Given the description of an element on the screen output the (x, y) to click on. 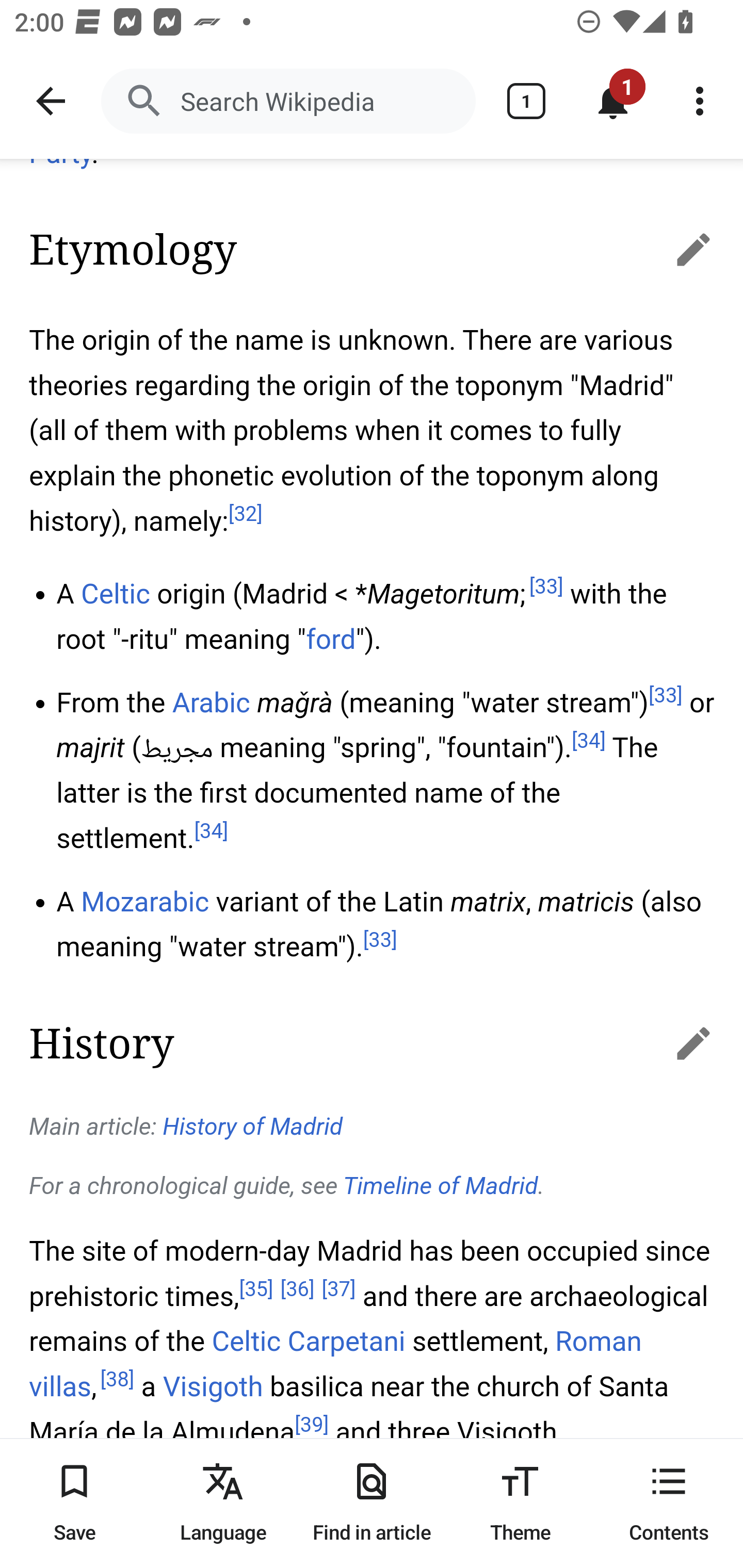
Show tabs 1 (525, 100)
Notifications 1 (612, 100)
Navigate up (50, 101)
More options (699, 101)
Search Wikipedia (288, 100)
Edit section (672, 248)
[] [ 32 ] (245, 514)
[] [ 33 ] (545, 586)
Celtic (115, 594)
ford (330, 639)
[] [ 33 ] (665, 695)
Arabic (211, 702)
[] [ 34 ] (588, 740)
[] [ 34 ] (210, 832)
Mozarabic (145, 901)
[] [ 33 ] (379, 940)
Edit section (672, 1042)
History of Madrid (253, 1127)
Timeline of Madrid (440, 1186)
[] [ 35 ] (256, 1289)
[] [ 36 ] (297, 1289)
[] [ 37 ] (339, 1289)
Roman villas (335, 1364)
Celtic (246, 1341)
Carpetani (346, 1341)
[] [ 38 ] (116, 1379)
Visigoth (212, 1387)
[] [ 39 ] (311, 1424)
Save (74, 1502)
Language (222, 1502)
Find in article (371, 1502)
Theme (519, 1502)
Contents (668, 1502)
